Given the description of an element on the screen output the (x, y) to click on. 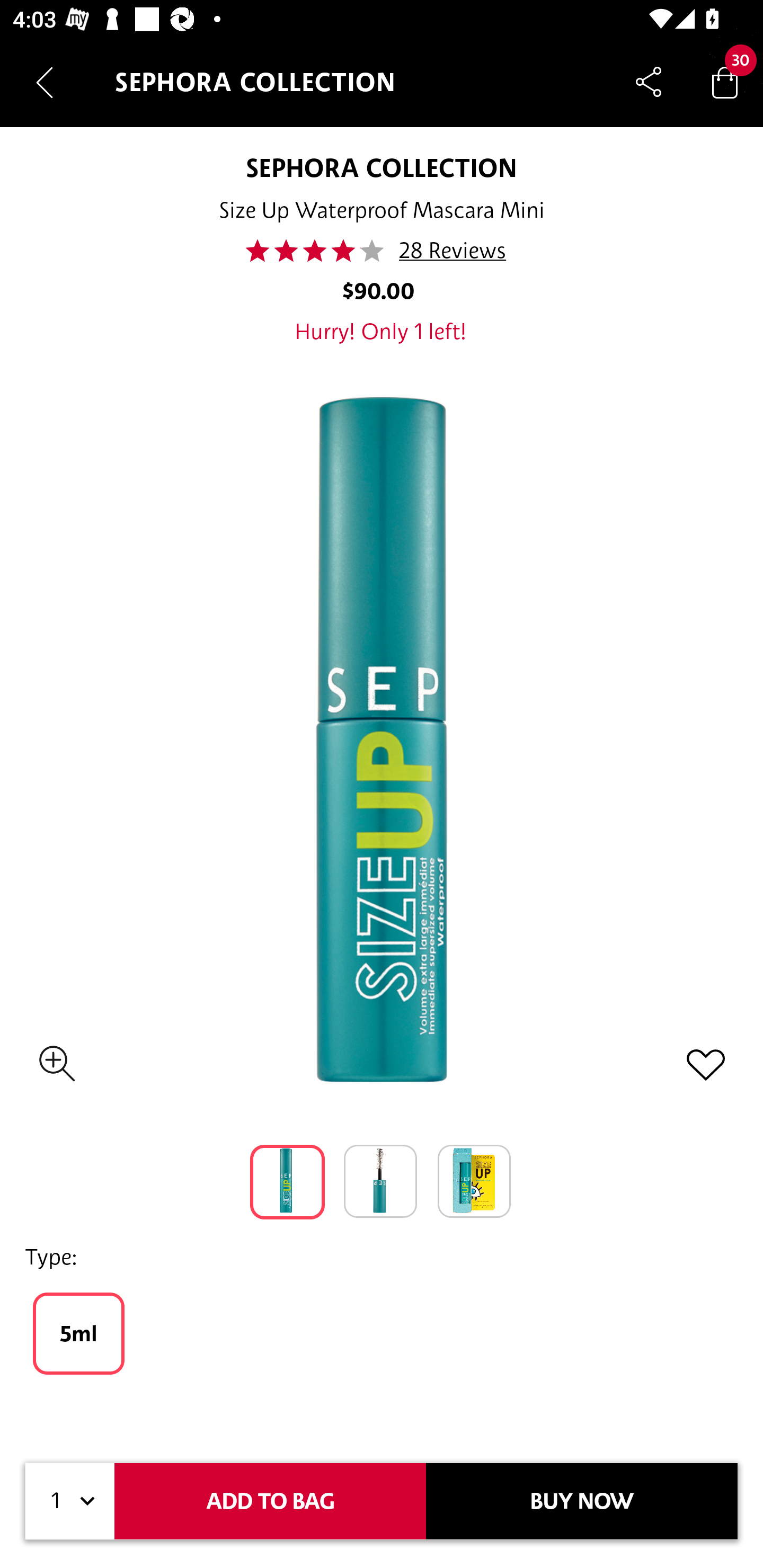
Navigate up (44, 82)
Share (648, 81)
Bag (724, 81)
SEPHORA COLLECTION (380, 167)
41.0 28 Reviews (381, 250)
5ml (78, 1333)
1 (69, 1500)
ADD TO BAG (269, 1500)
BUY NOW (581, 1500)
